Given the description of an element on the screen output the (x, y) to click on. 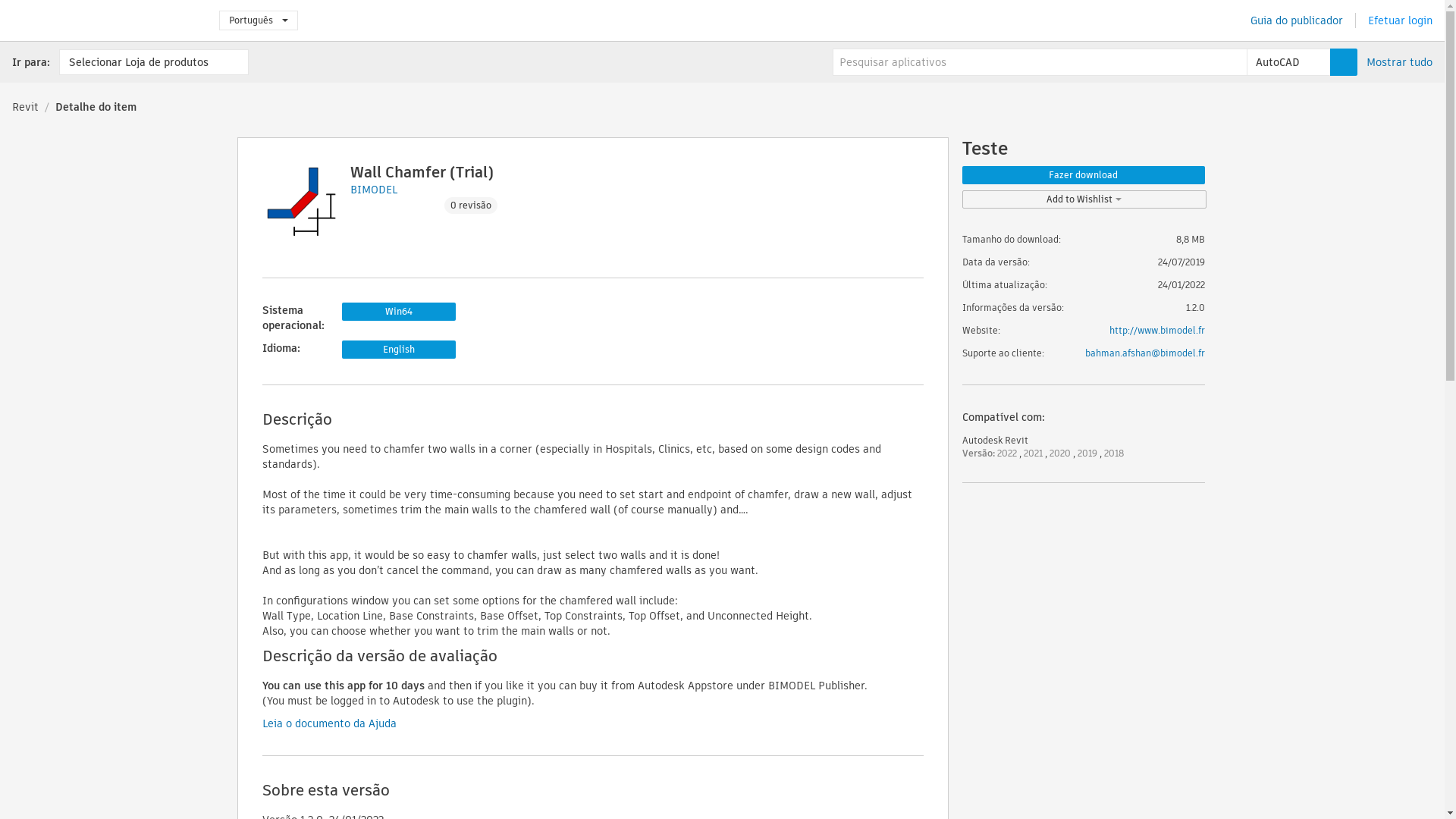
Efetuar login (1400, 20)
Guia do publicador (1296, 20)
Selecionar Loja de produtos (153, 62)
Autodesk App Store (103, 20)
